Given the description of an element on the screen output the (x, y) to click on. 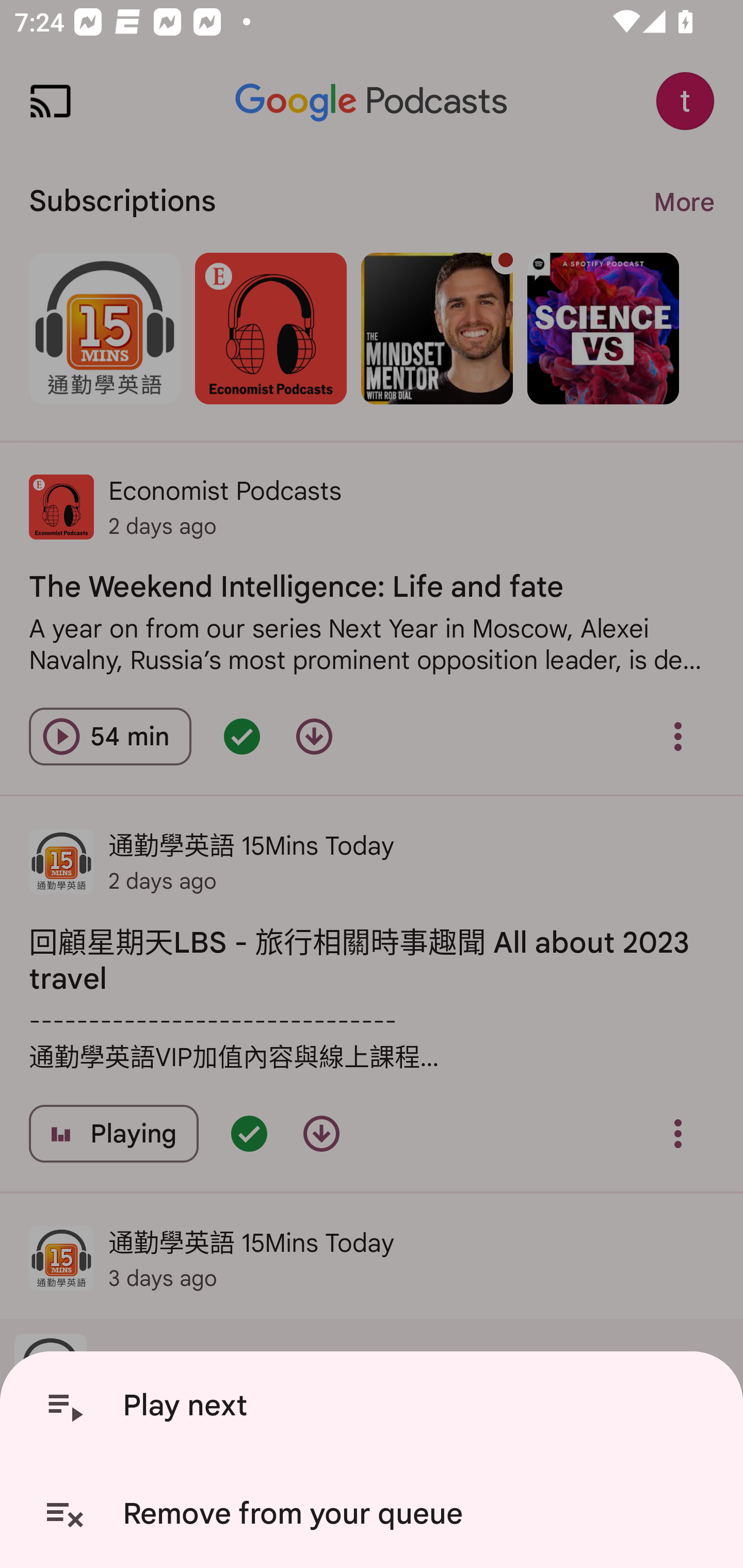
Play next (375, 1405)
Remove from your queue (375, 1513)
